Given the description of an element on the screen output the (x, y) to click on. 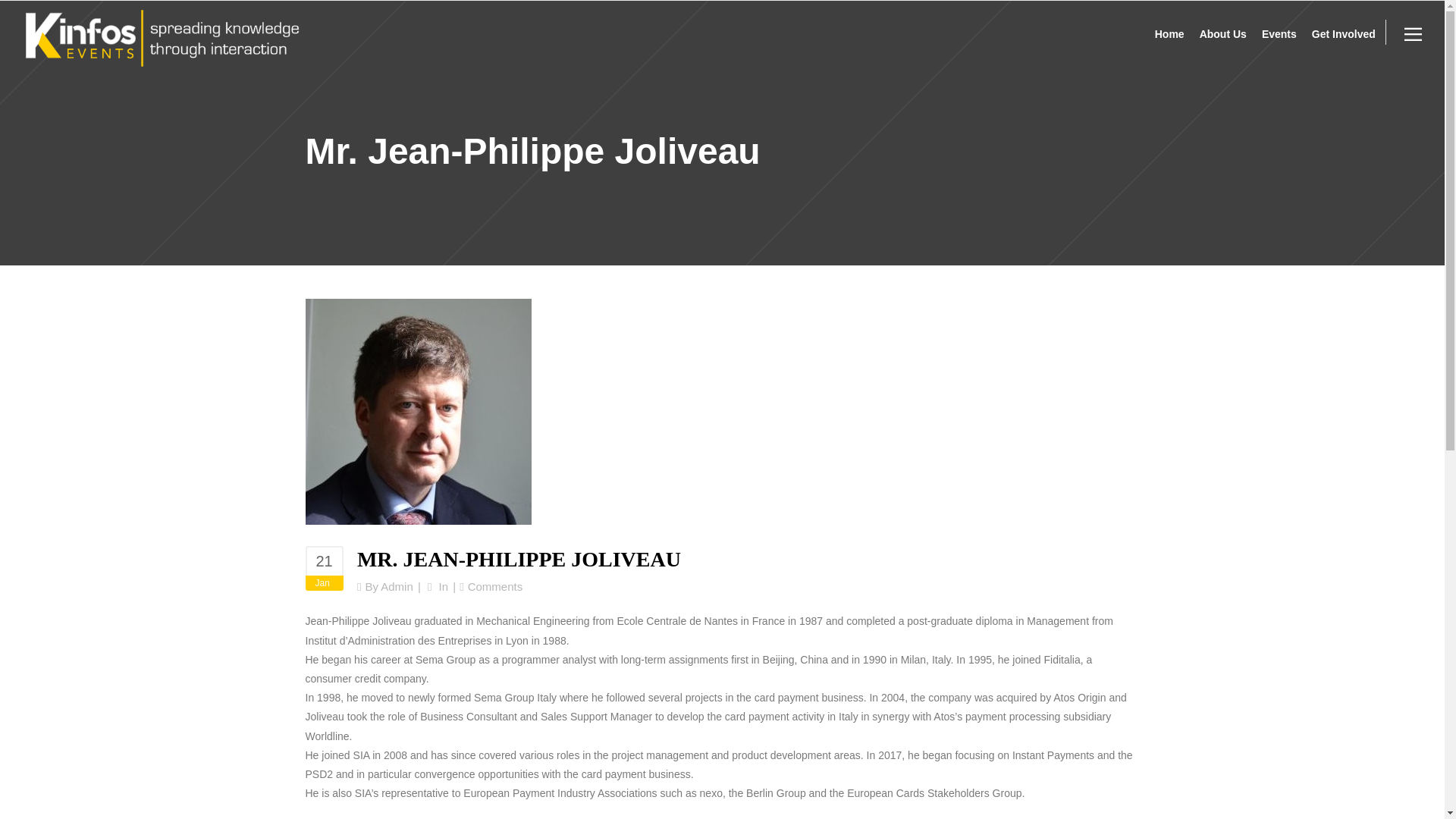
Comments (494, 585)
Get Involved (1343, 38)
Admin (396, 585)
